Given the description of an element on the screen output the (x, y) to click on. 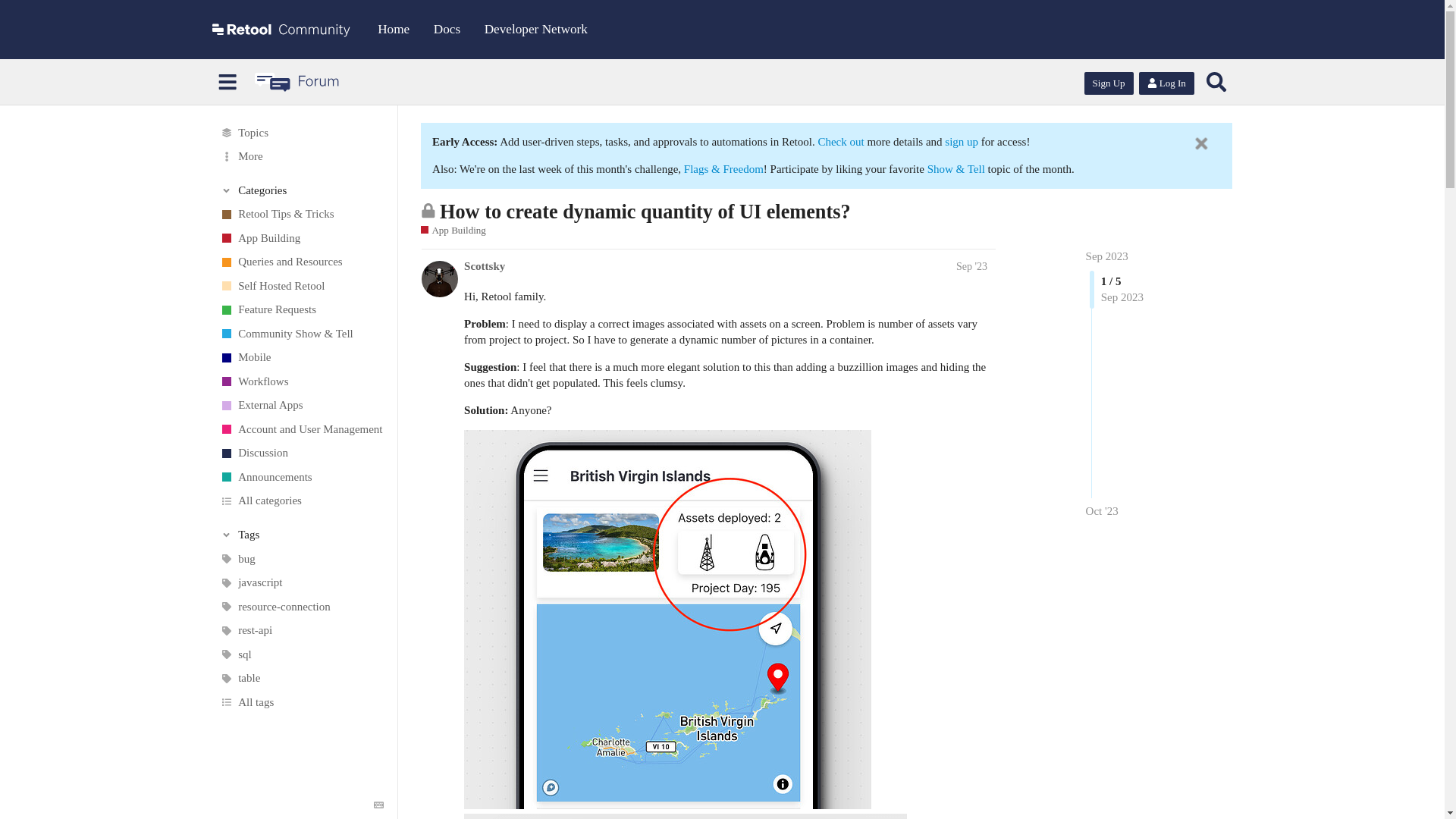
Home (393, 29)
table (301, 678)
resource-connection (301, 606)
More (301, 156)
Categories (301, 190)
sign up (962, 141)
All categories (301, 500)
Self Hosted Retool (301, 286)
Mobile (301, 357)
Toggle section (301, 534)
Search (1215, 82)
All tags (301, 702)
Log In (1165, 82)
rest-api (301, 630)
